Given the description of an element on the screen output the (x, y) to click on. 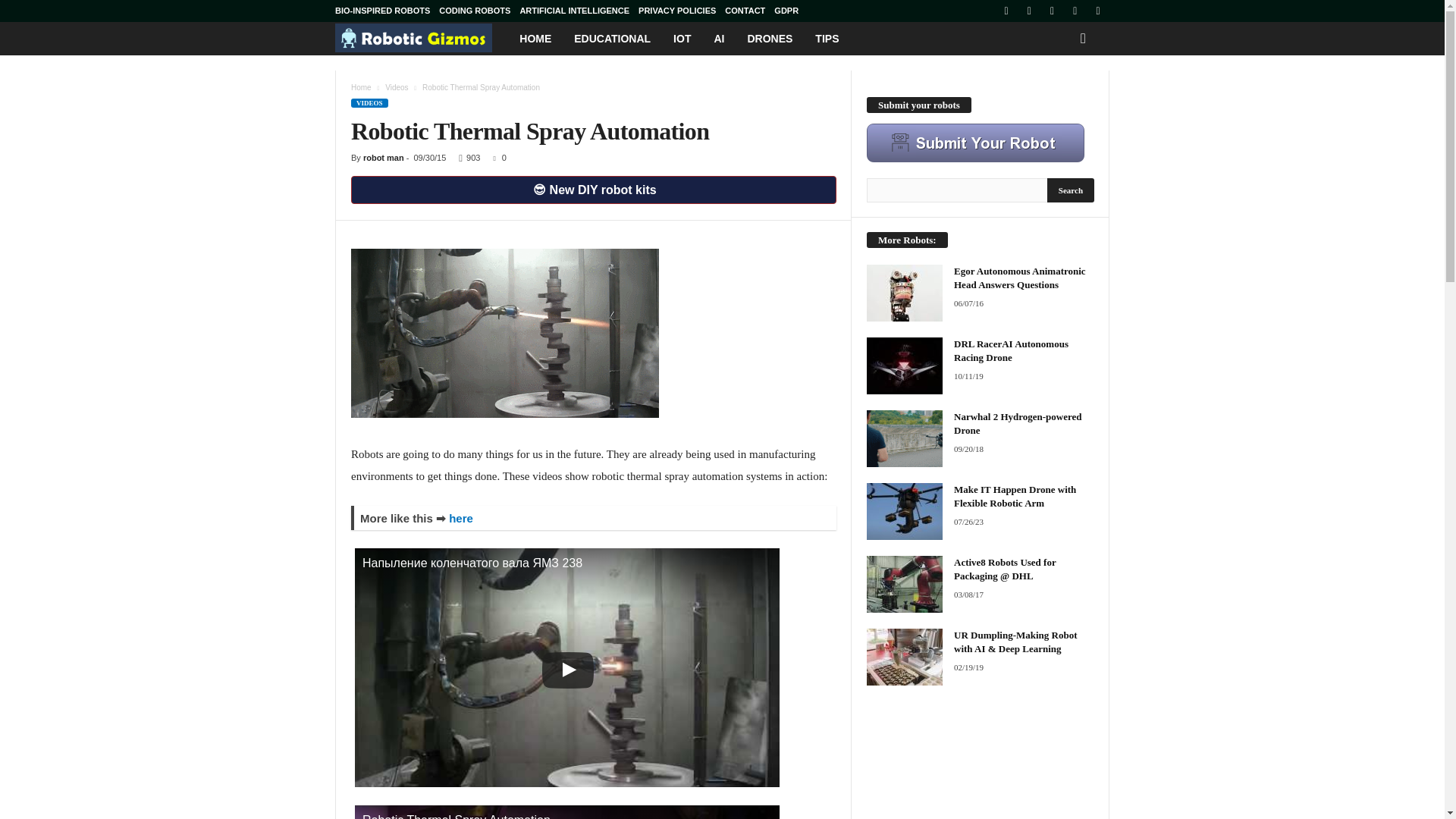
BIO-INSPIRED ROBOTS (381, 10)
Robotic Gizmos (421, 38)
HOME (535, 38)
GDPR (785, 10)
CONTACT (745, 10)
PRIVACY POLICIES (677, 10)
Search (1070, 190)
CODING ROBOTS (475, 10)
ARTIFICIAL INTELLIGENCE (573, 10)
